Given the description of an element on the screen output the (x, y) to click on. 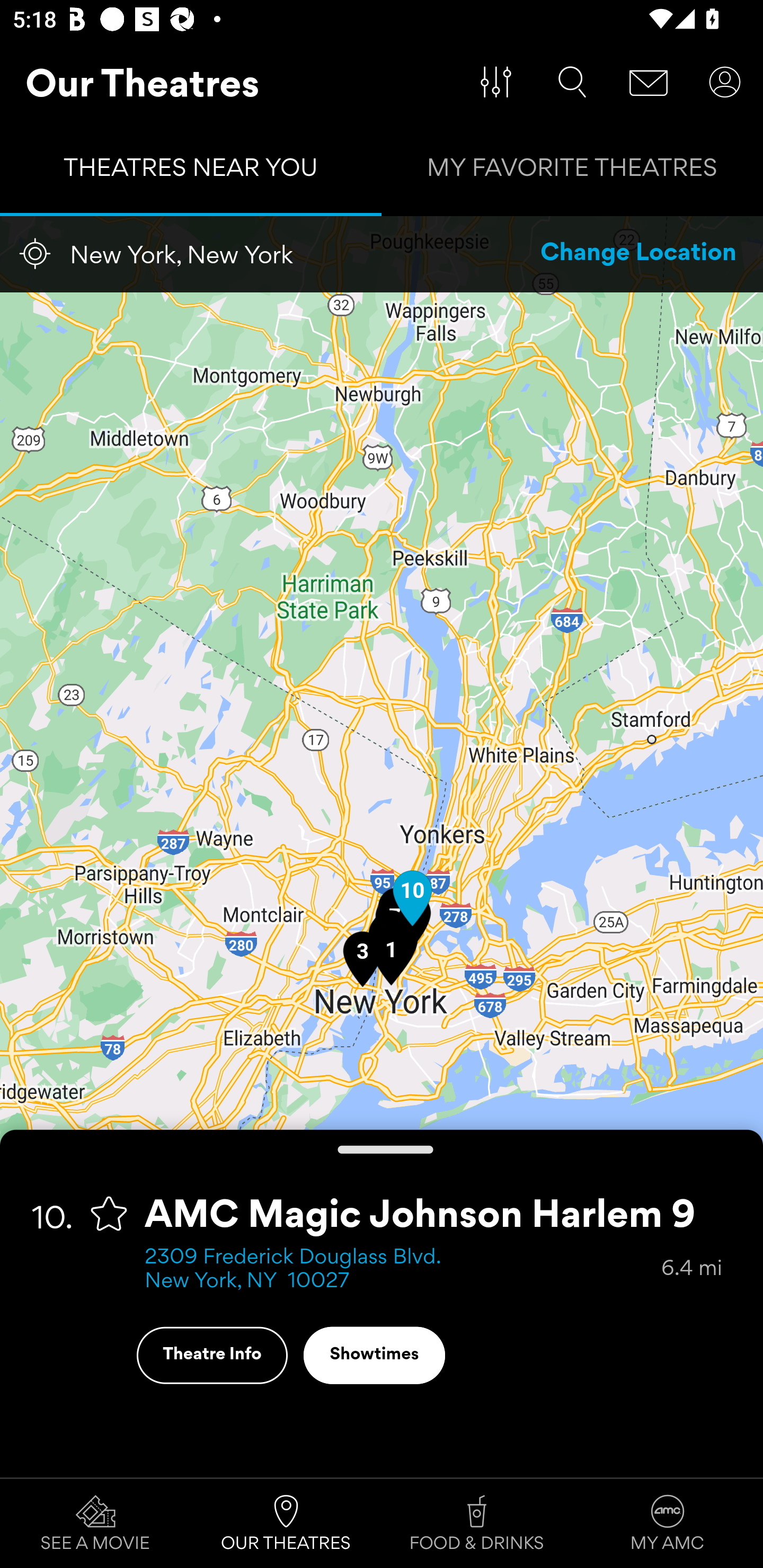
Filter Theatres (495, 82)
Search (572, 82)
Message Center (648, 82)
User Account (724, 82)
THEATRES NEAR YOU
Tab 1 of 2 (190, 171)
MY FAVORITE THEATRES
Tab 2 of 2 (572, 171)
Change Location (639, 253)
Theatre Info (211, 1355)
Showtimes (373, 1355)
SEE A MOVIE
Tab 1 of 4 (95, 1523)
OUR THEATRES
Tab 2 of 4 (285, 1523)
FOOD & DRINKS
Tab 3 of 4 (476, 1523)
MY AMC
Tab 4 of 4 (667, 1523)
